Given the description of an element on the screen output the (x, y) to click on. 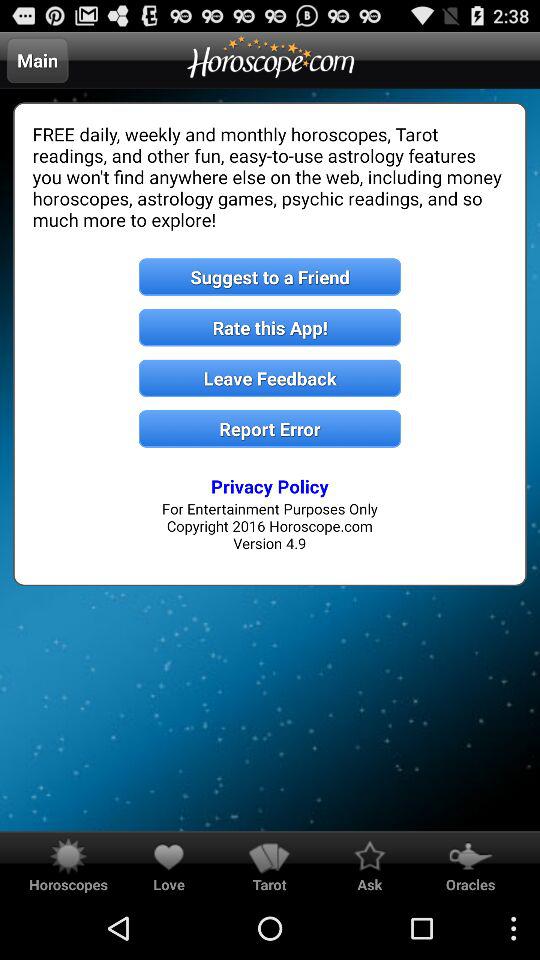
choose the leave feedback item (269, 378)
